Given the description of an element on the screen output the (x, y) to click on. 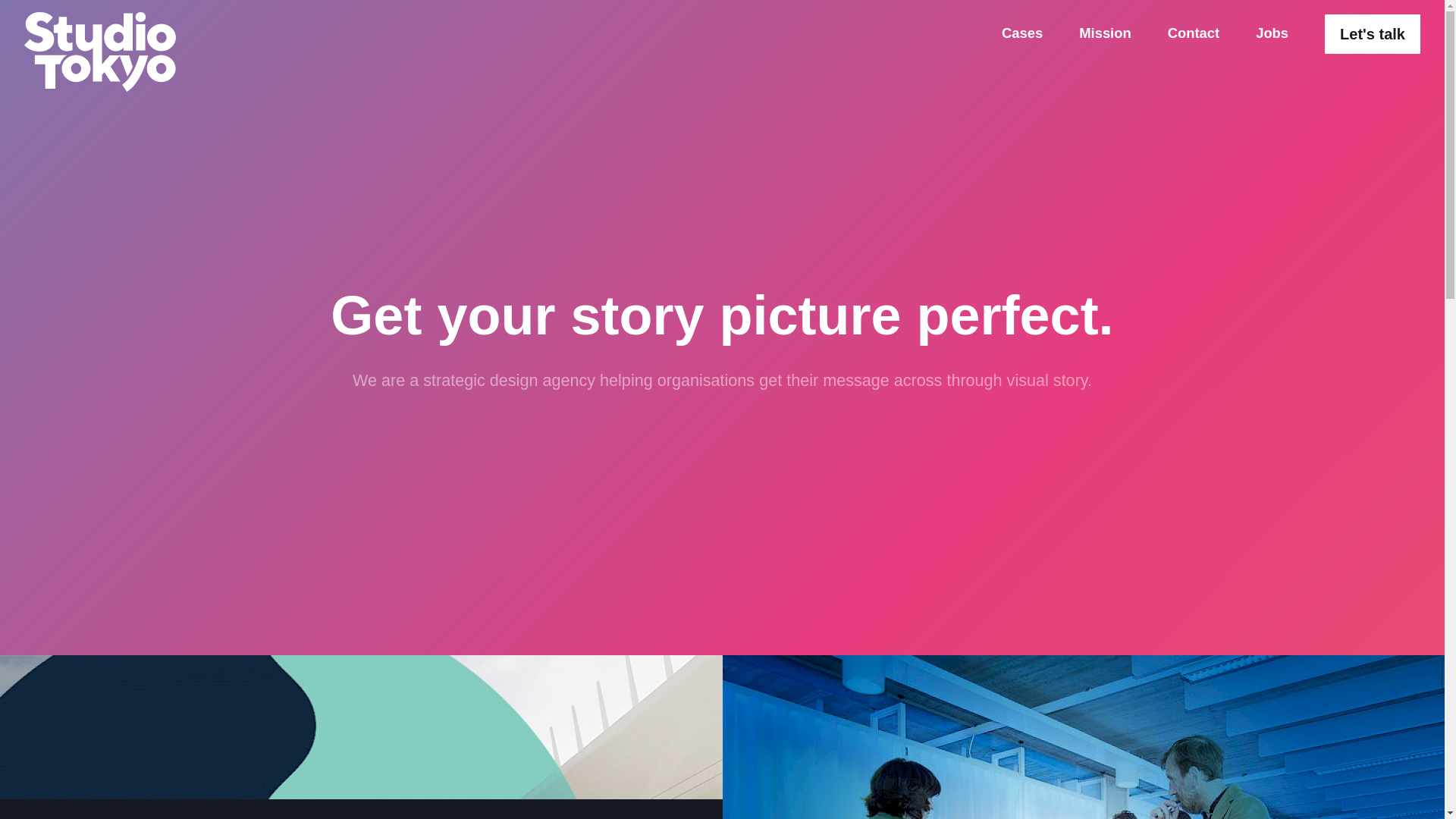
Cases (1021, 33)
Contact (1193, 33)
Mission (1104, 33)
Home (100, 51)
Mission (1104, 33)
Cases (1021, 33)
Jobs (1271, 33)
Contact (1193, 33)
Let's talk (1372, 34)
Jobs (1271, 33)
